Given the description of an element on the screen output the (x, y) to click on. 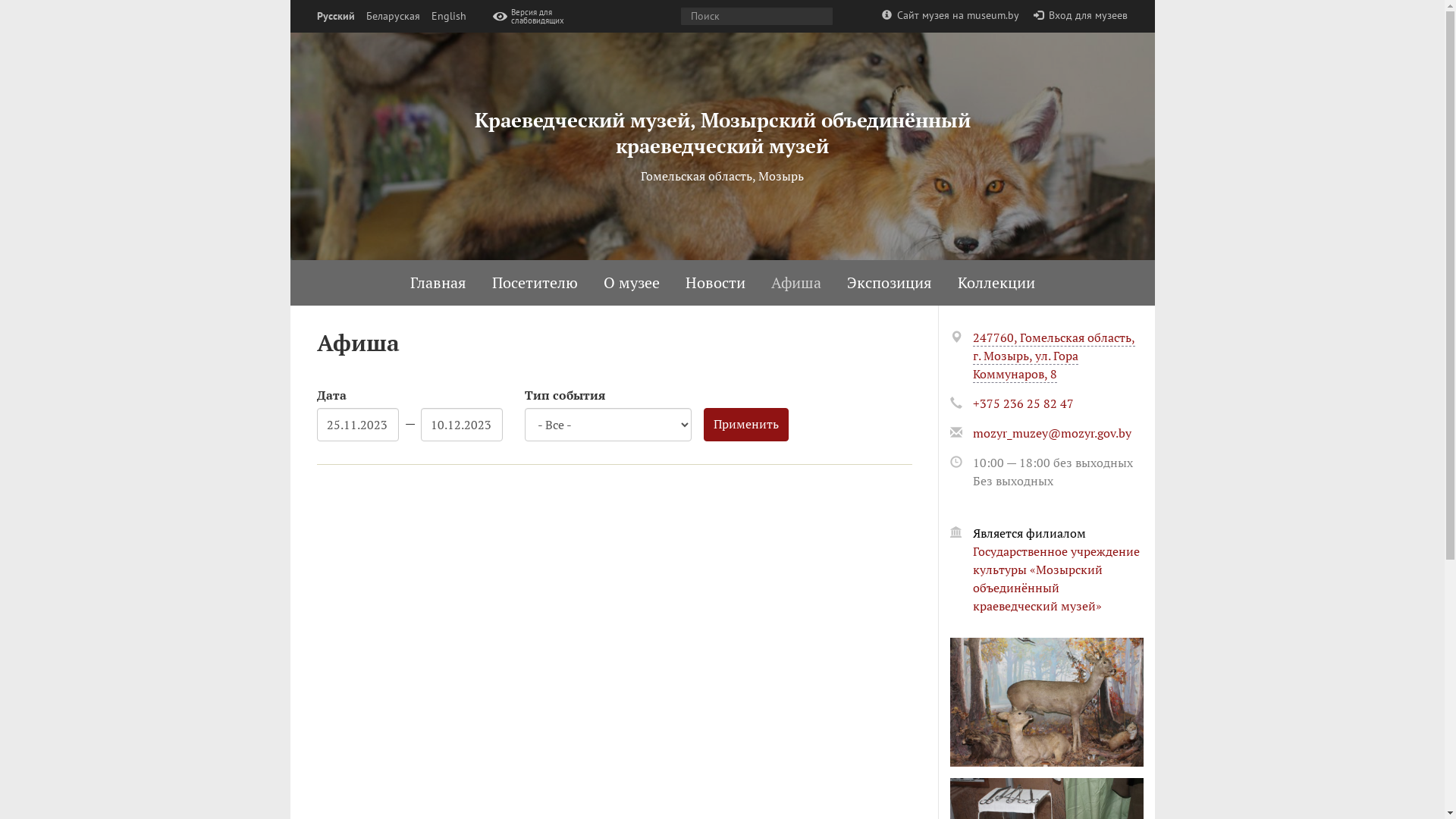
mozyr_muzey@mozyr.gov.by Element type: text (1051, 432)
+375 236 25 82 47 Element type: text (1022, 403)
English Element type: text (447, 16)
